Given the description of an element on the screen output the (x, y) to click on. 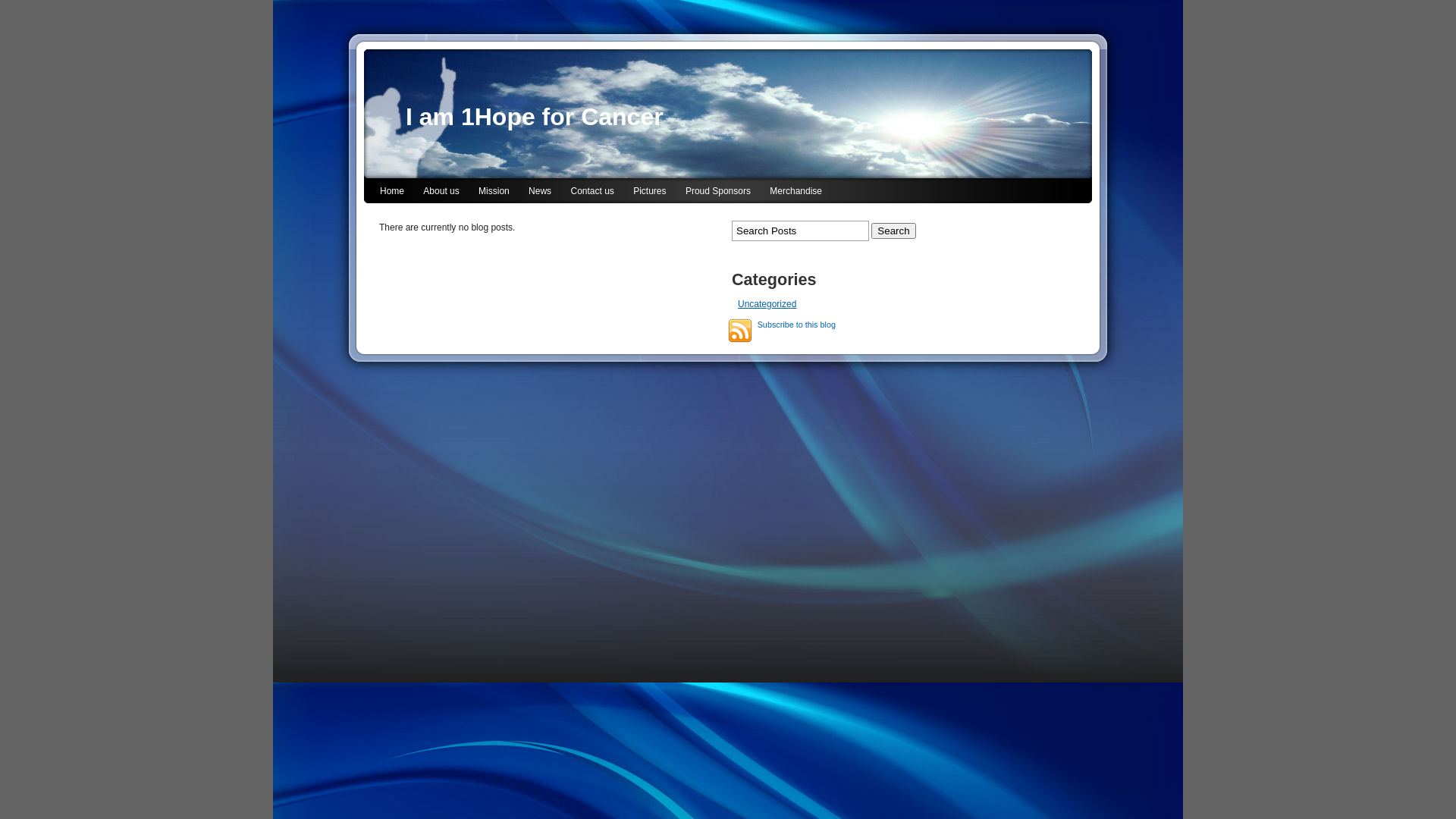
Proud Sponsors Element type: text (718, 192)
About us Element type: text (440, 192)
Mission Element type: text (493, 192)
Uncategorized Element type: text (766, 303)
I am 1Hope for Cancer Element type: text (534, 116)
Search Posts Element type: text (800, 230)
Home Element type: text (391, 192)
Pictures Element type: text (649, 192)
Contact us Element type: text (591, 192)
Search Element type: text (893, 230)
Merchandise Element type: text (795, 192)
Subscribe to this blog Element type: hover (740, 330)
News Element type: text (539, 192)
Subscribe to this blog Element type: text (796, 324)
